Given the description of an element on the screen output the (x, y) to click on. 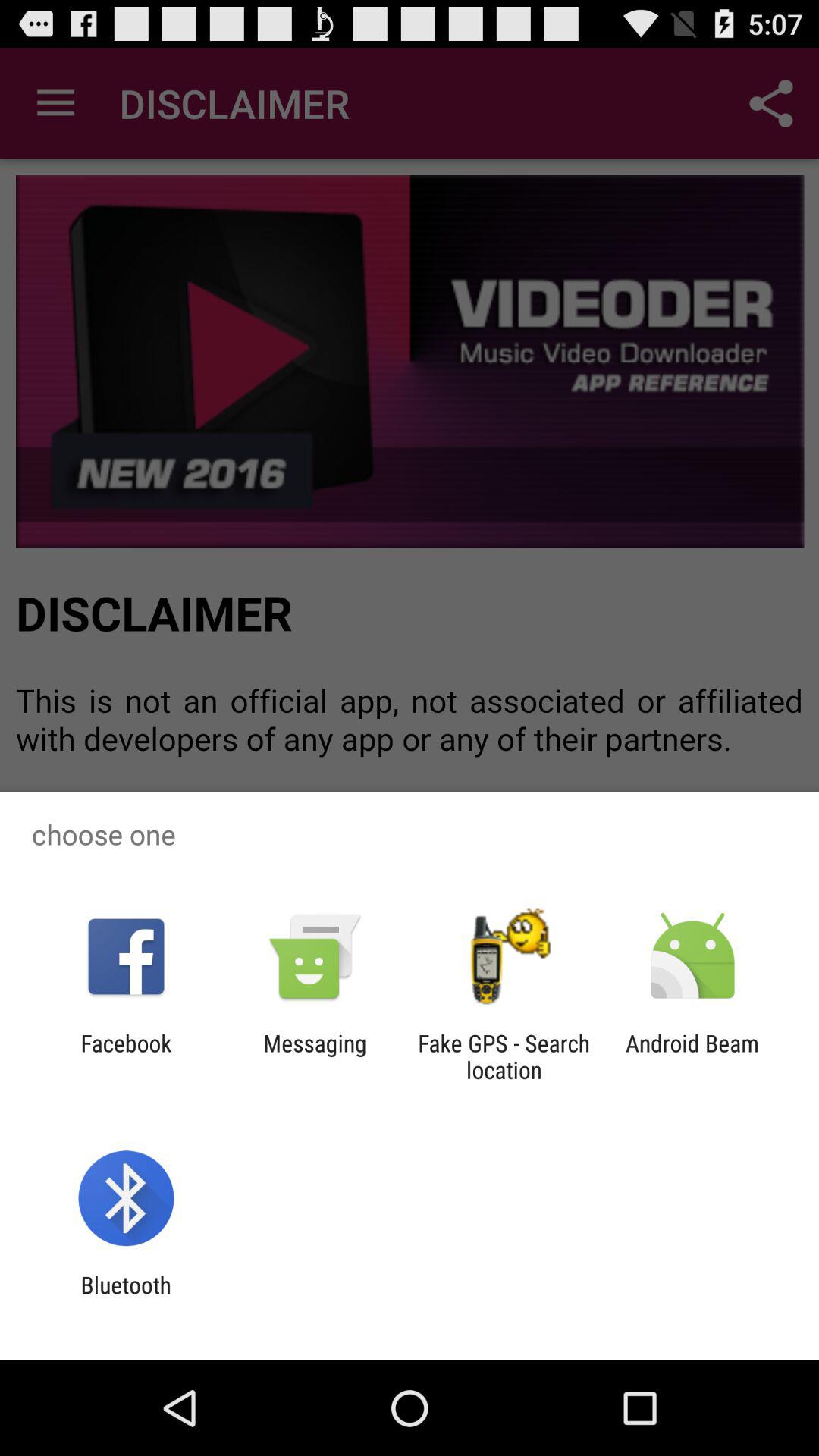
launch the icon next to the android beam app (503, 1056)
